Given the description of an element on the screen output the (x, y) to click on. 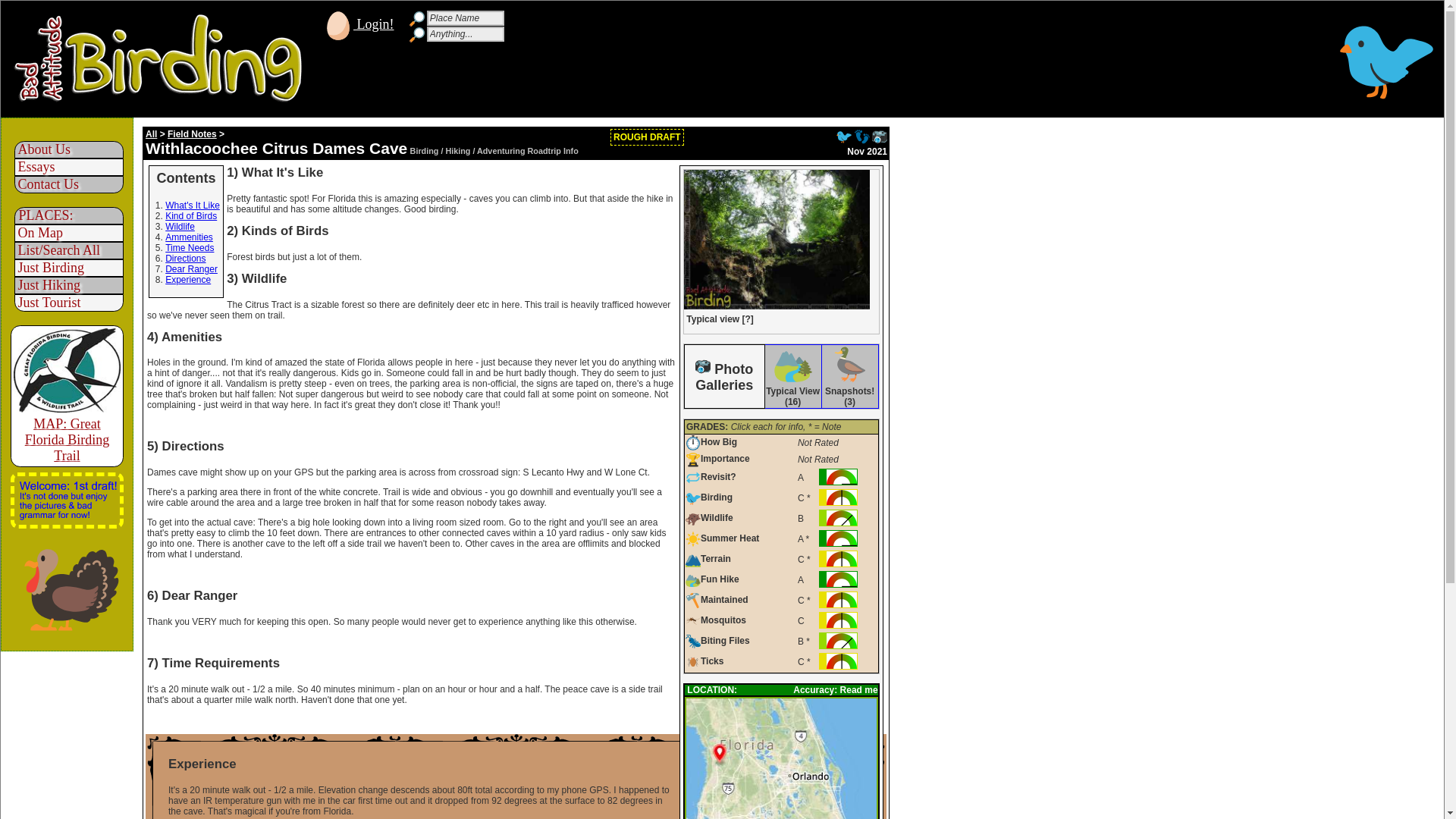
Time Needs (189, 247)
Place Name (464, 17)
Kind of Birds (190, 215)
Dear Ranger (190, 268)
Contact Us (44, 183)
About Us (39, 149)
Hiking (861, 136)
Wildlife (180, 226)
Login! (358, 23)
Experience (188, 279)
Experience (515, 764)
Just Birding (47, 267)
Field Notes (191, 133)
Directions (185, 258)
On Map (36, 232)
